Given the description of an element on the screen output the (x, y) to click on. 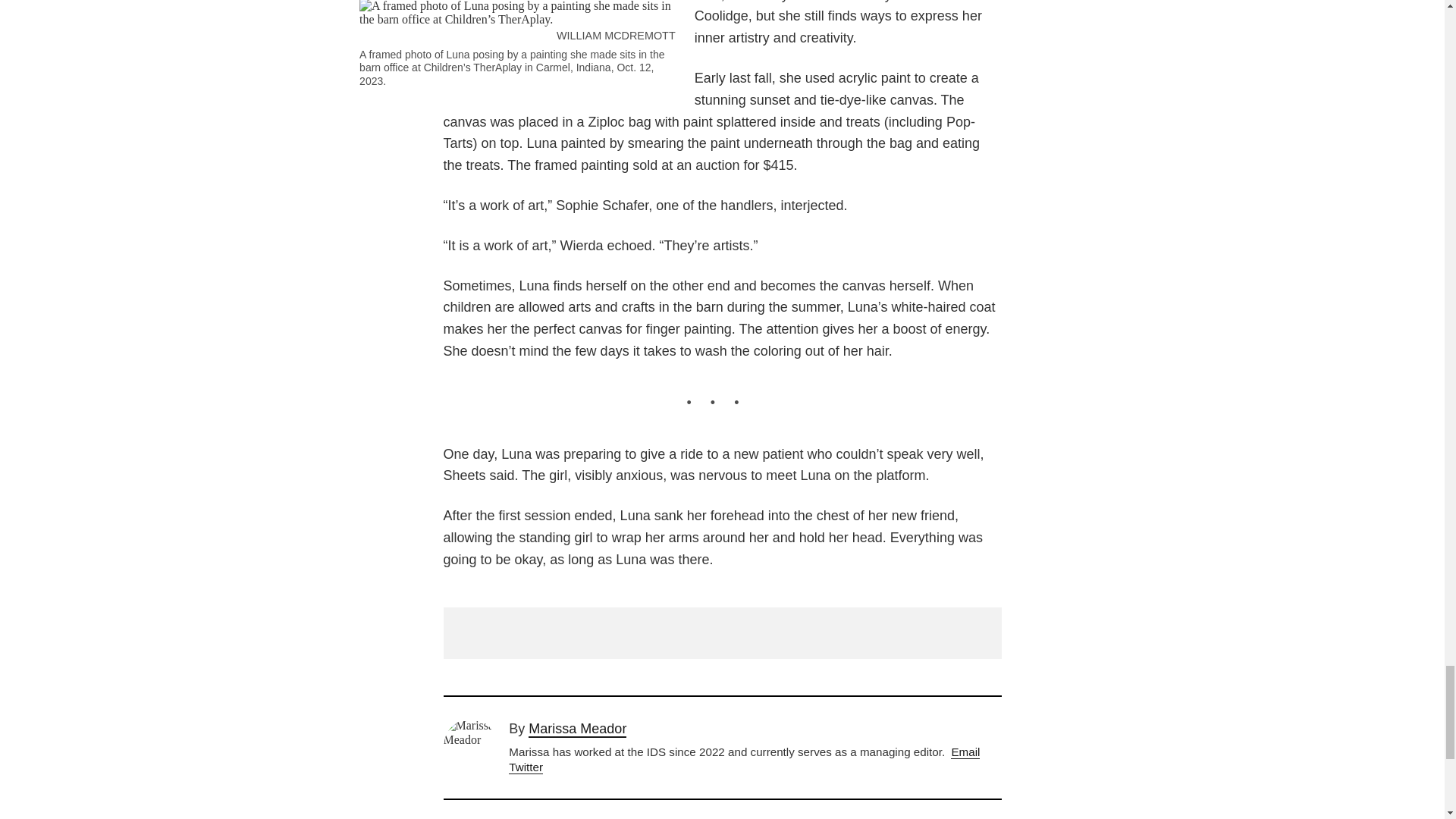
Twitter (525, 766)
Marissa Meador (577, 729)
Email (964, 752)
